Given the description of an element on the screen output the (x, y) to click on. 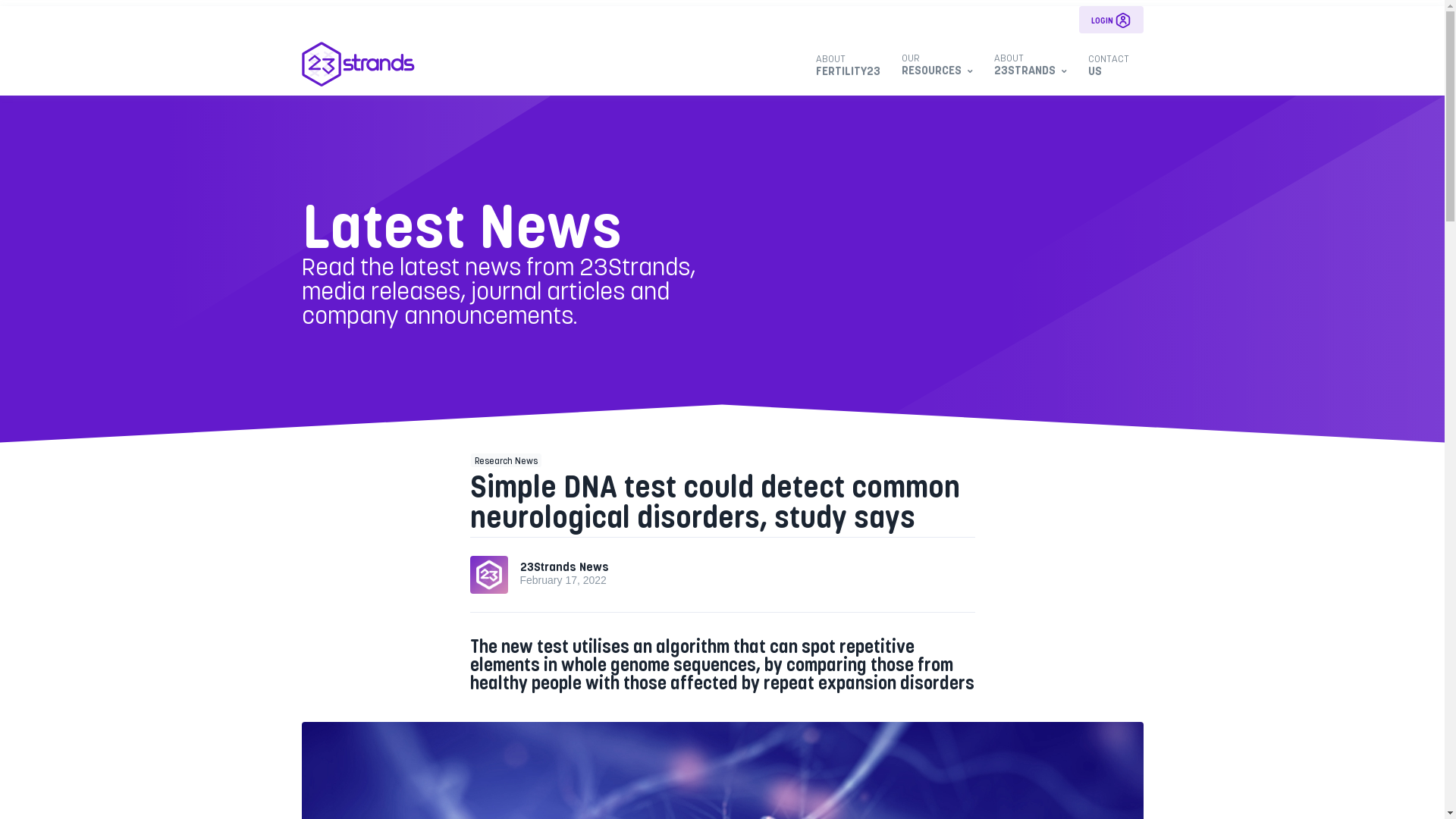
CONTACT
US Element type: text (1110, 63)
ABOUT
23STRANDS Element type: text (1030, 64)
23Strands News Element type: text (564, 565)
LOGIN Element type: text (1110, 19)
ABOUT
FERTILITY23 Element type: text (853, 63)
OUR
RESOURCES Element type: text (937, 64)
Research News Element type: text (505, 460)
